Given the description of an element on the screen output the (x, y) to click on. 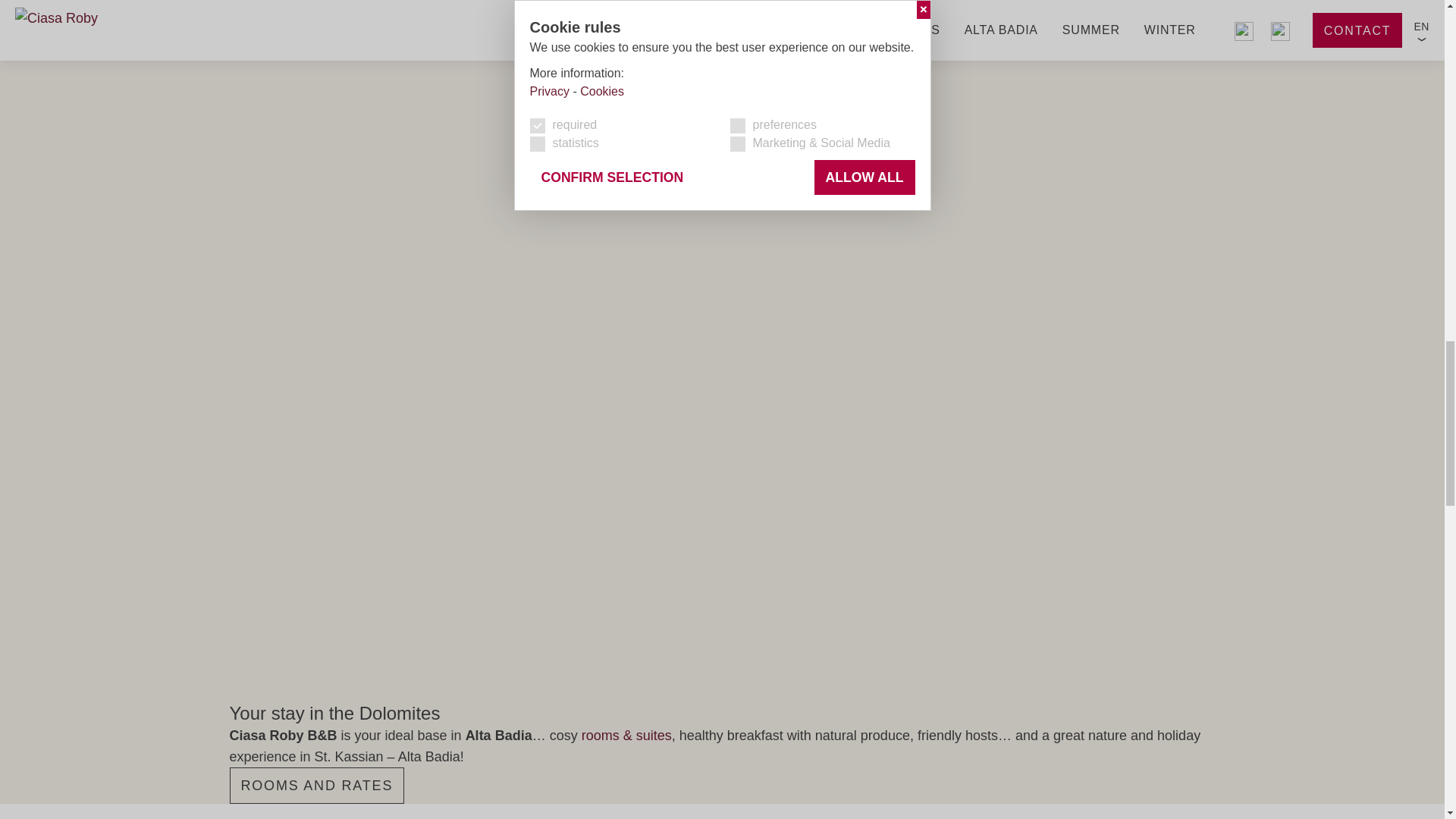
ROOMS AND RATES (316, 785)
